Given the description of an element on the screen output the (x, y) to click on. 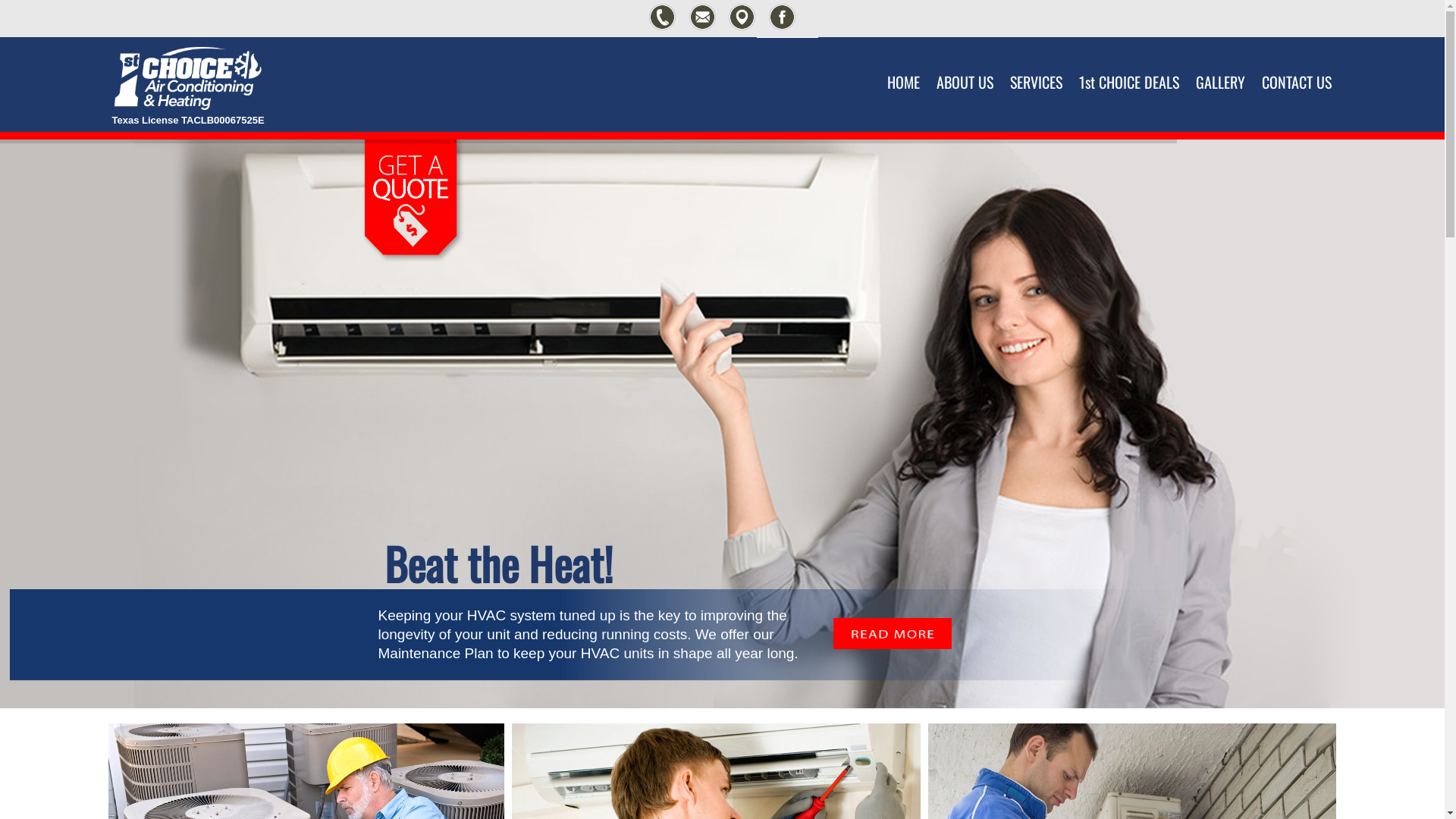
ABOUT US Element type: text (964, 70)
HOME Element type: text (903, 70)
SERVICES Element type: text (1036, 70)
CONTACT US Element type: text (1296, 70)
1st CHOICE DEALS Element type: text (1128, 70)
GALLERY Element type: text (1219, 70)
